Given the description of an element on the screen output the (x, y) to click on. 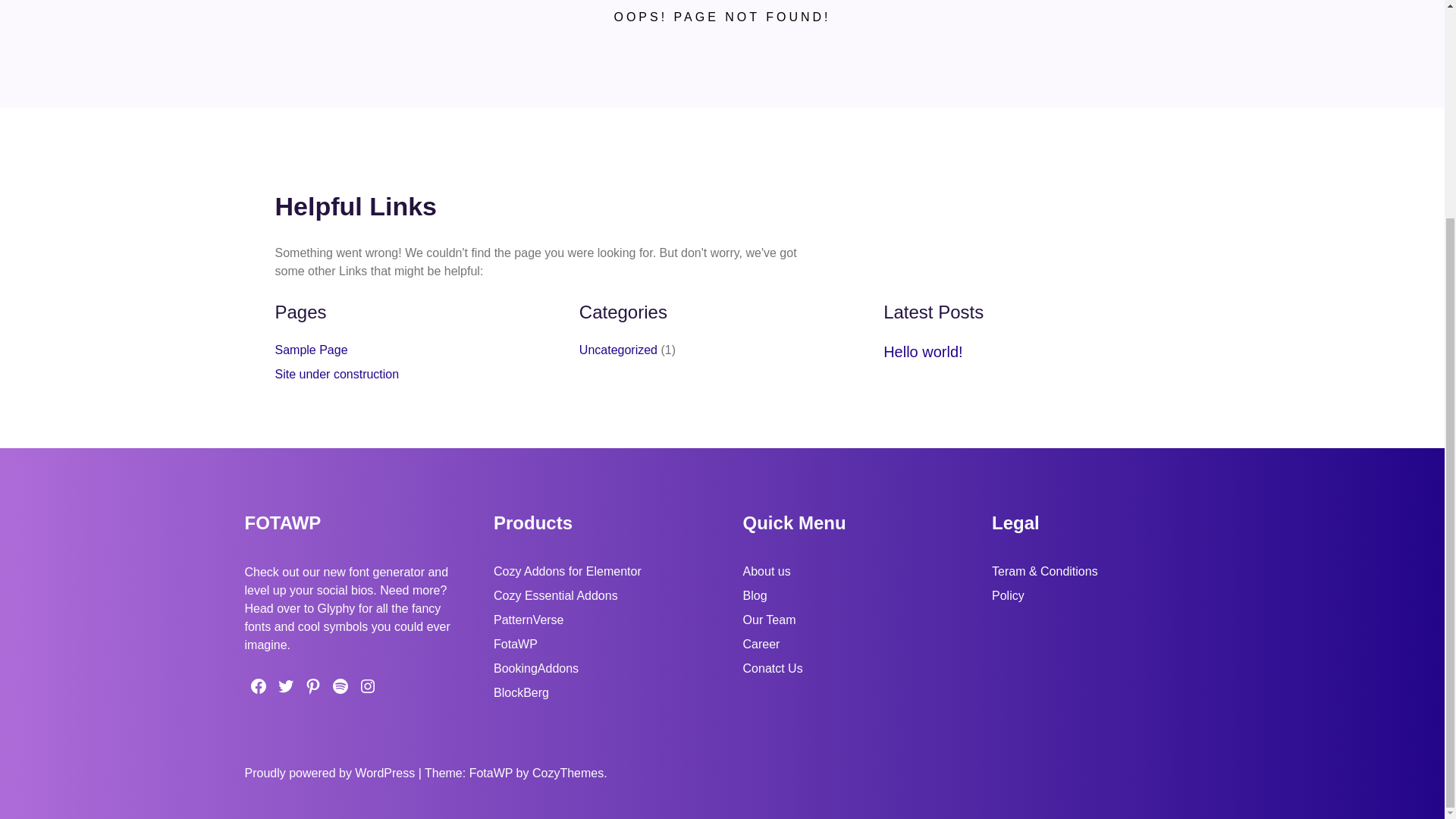
About us (766, 571)
Hello world! (922, 351)
Policy (1008, 594)
Our Team (769, 619)
Cozy Addons for Elementor (567, 571)
CozyThemes. (569, 772)
Twitter (284, 686)
Sample Page (311, 349)
Blog (754, 594)
Uncategorized (618, 349)
